Given the description of an element on the screen output the (x, y) to click on. 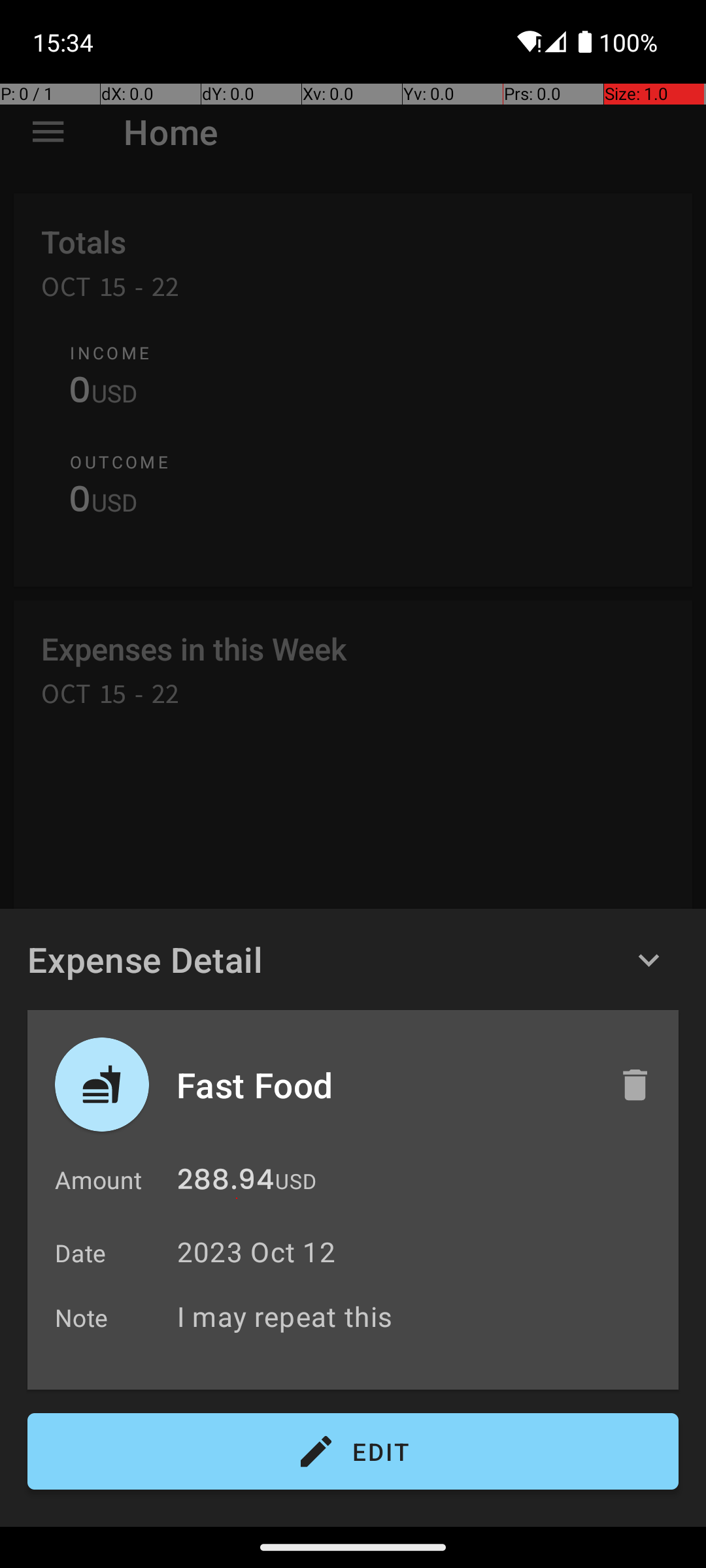
Fast Food Element type: android.widget.TextView (383, 1084)
288.94 Element type: android.widget.TextView (225, 1182)
